Given the description of an element on the screen output the (x, y) to click on. 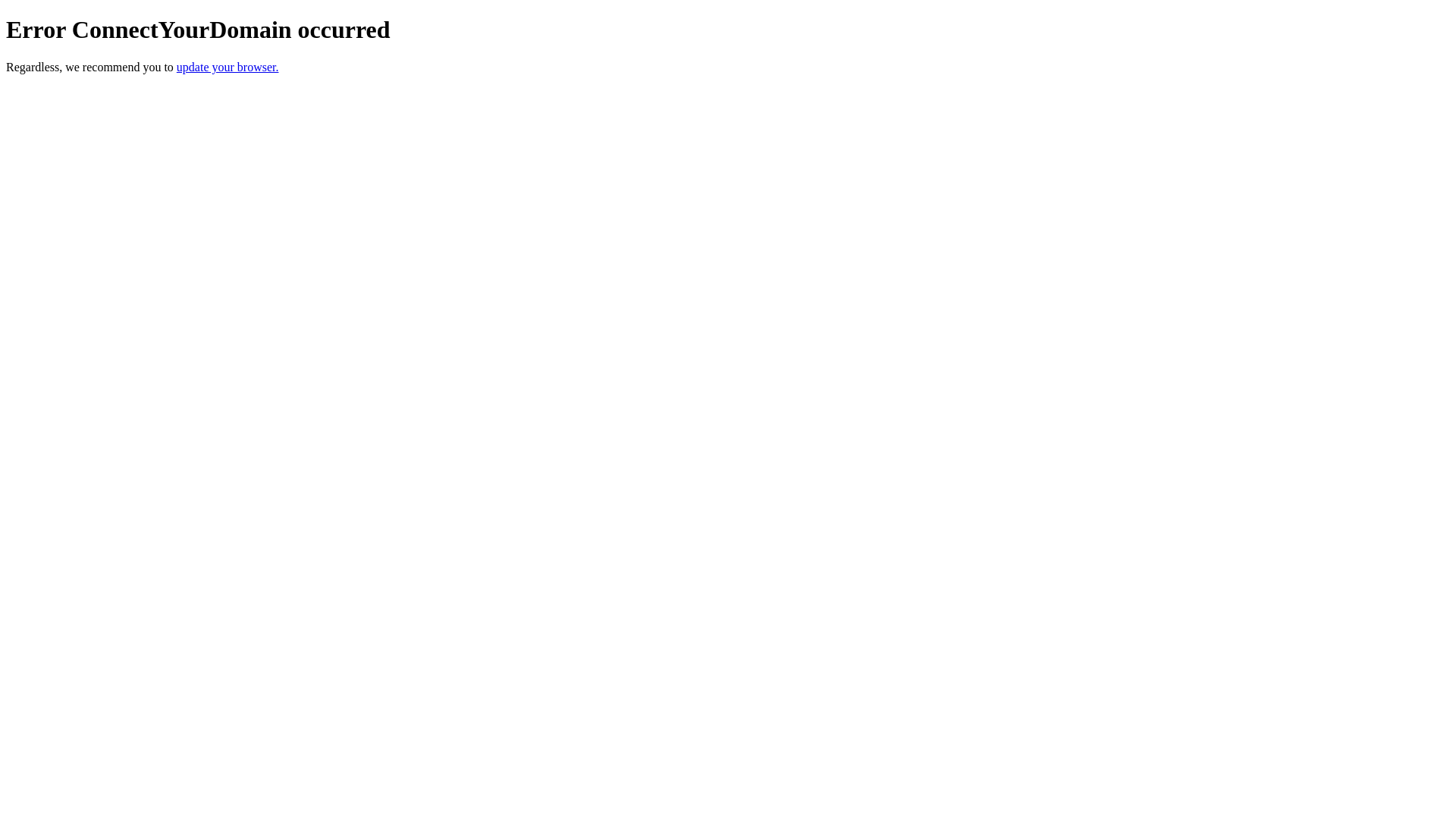
update your browser. Element type: text (227, 66)
